Given the description of an element on the screen output the (x, y) to click on. 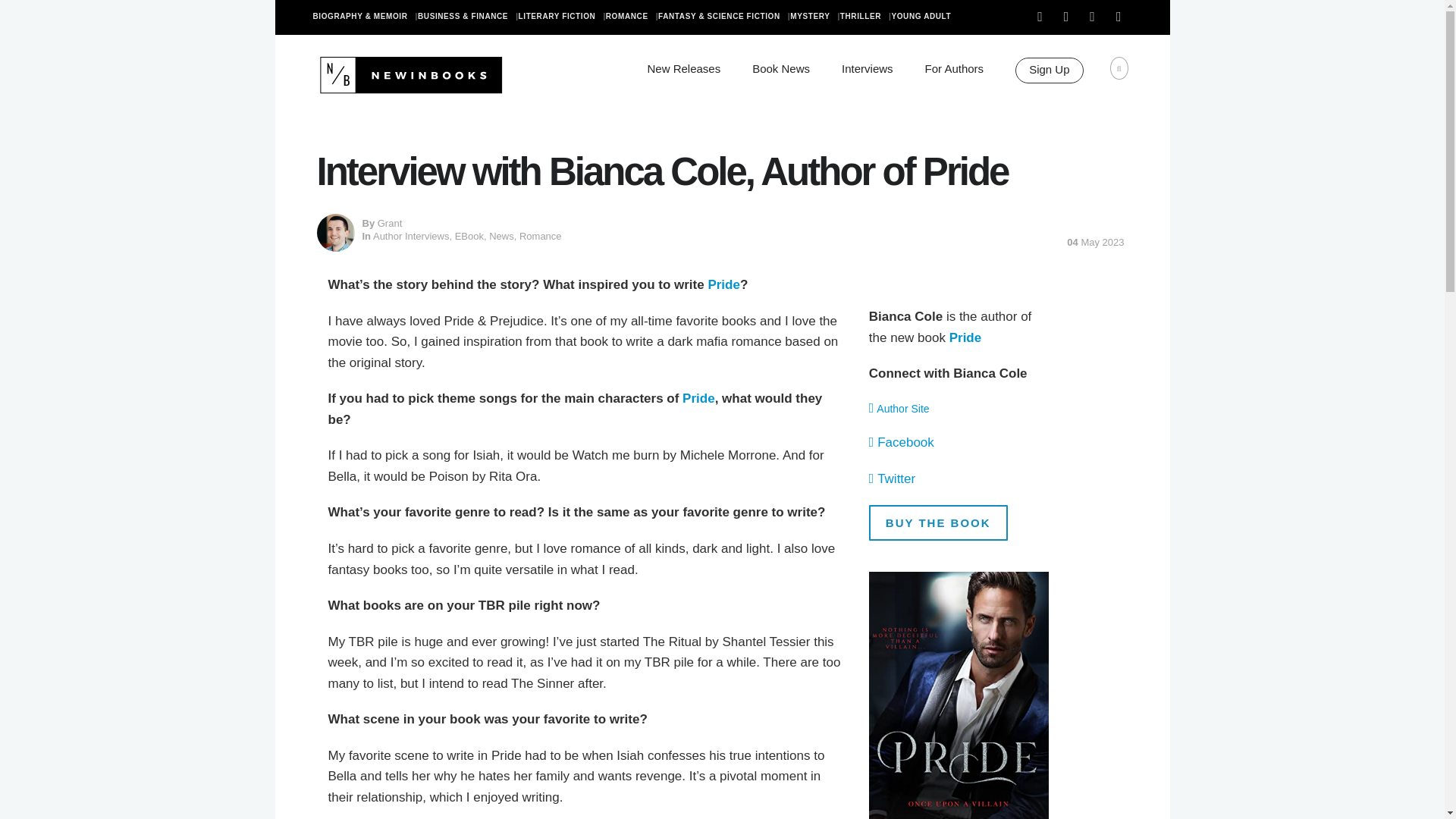
News (501, 235)
Book News (780, 68)
Author Site (902, 408)
Romance (540, 235)
Pride (965, 337)
Pride (723, 284)
Sign Up (1048, 70)
YOUNG ADULT (924, 16)
MYSTERY (815, 16)
Grant (390, 223)
